Given the description of an element on the screen output the (x, y) to click on. 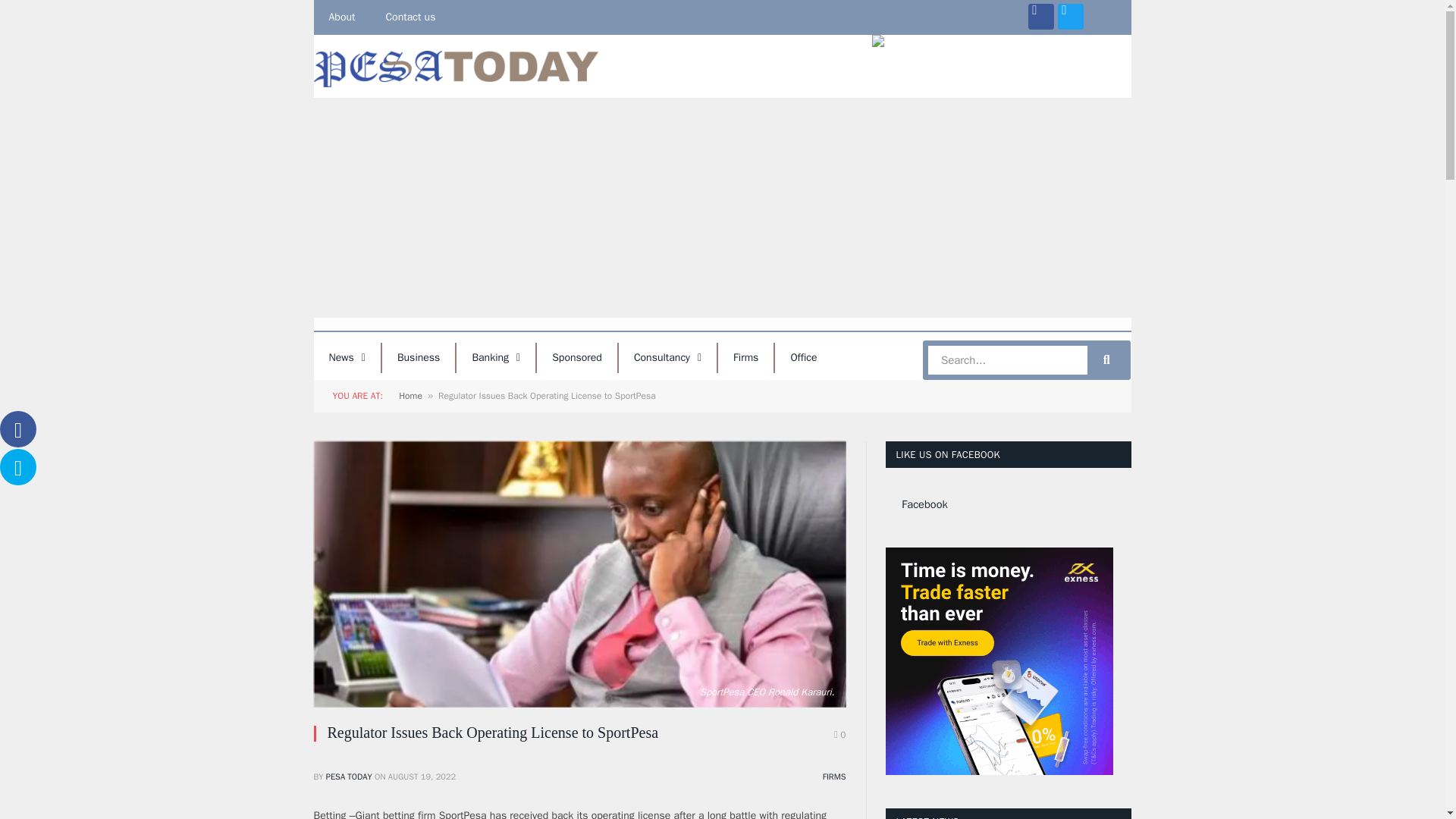
Sponsored (577, 357)
Consultancy (667, 357)
Office (802, 357)
Contact us (409, 17)
News (347, 357)
About (342, 17)
2022-08-19 (421, 776)
Business (417, 357)
Banking (496, 357)
Posts by Pesa Today (349, 776)
Firms (745, 357)
